Given the description of an element on the screen output the (x, y) to click on. 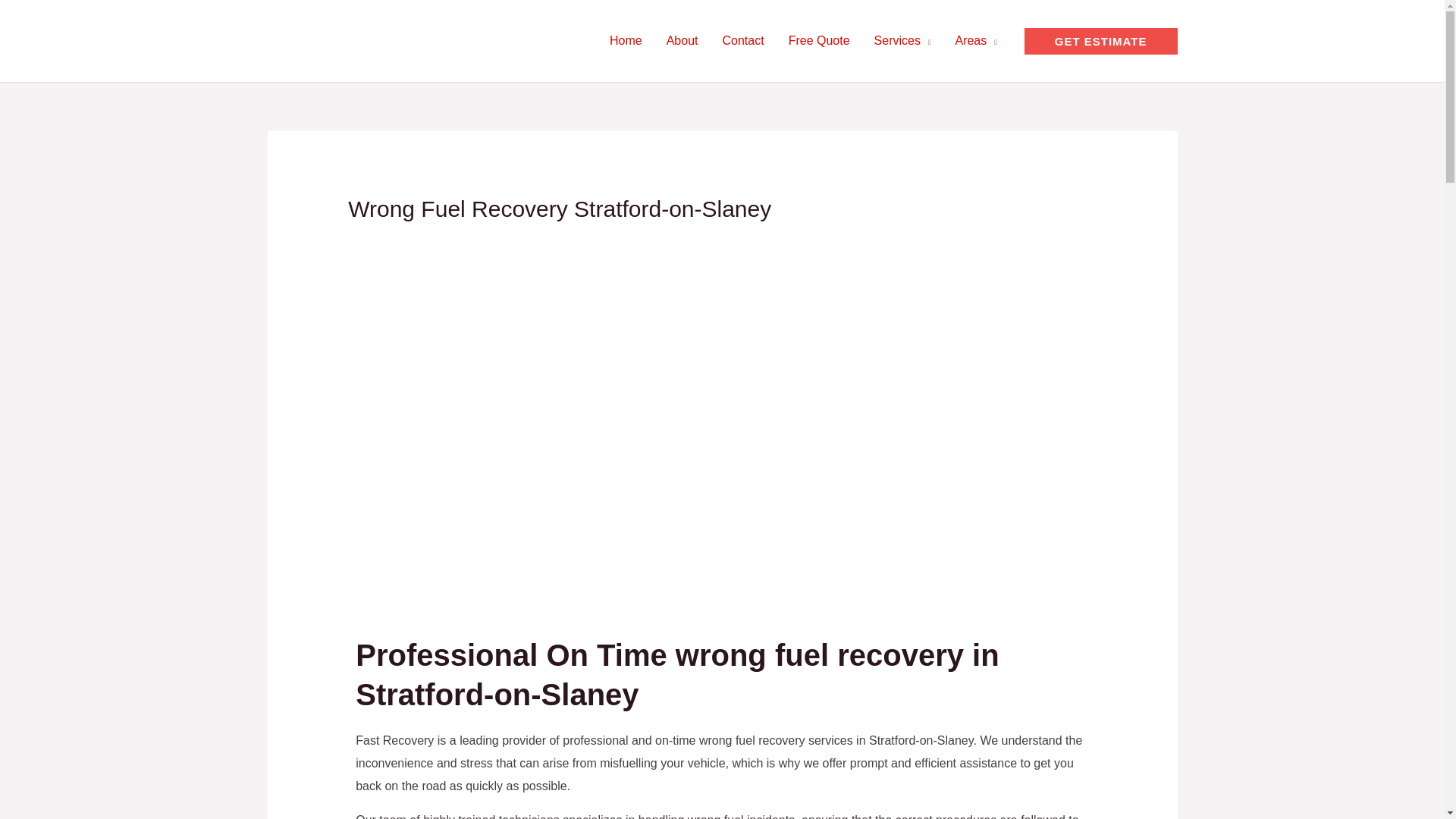
Free Quote (818, 40)
GET ESTIMATE (1101, 40)
Services (902, 40)
Home (624, 40)
About (681, 40)
Areas (975, 40)
Contact (743, 40)
